Given the description of an element on the screen output the (x, y) to click on. 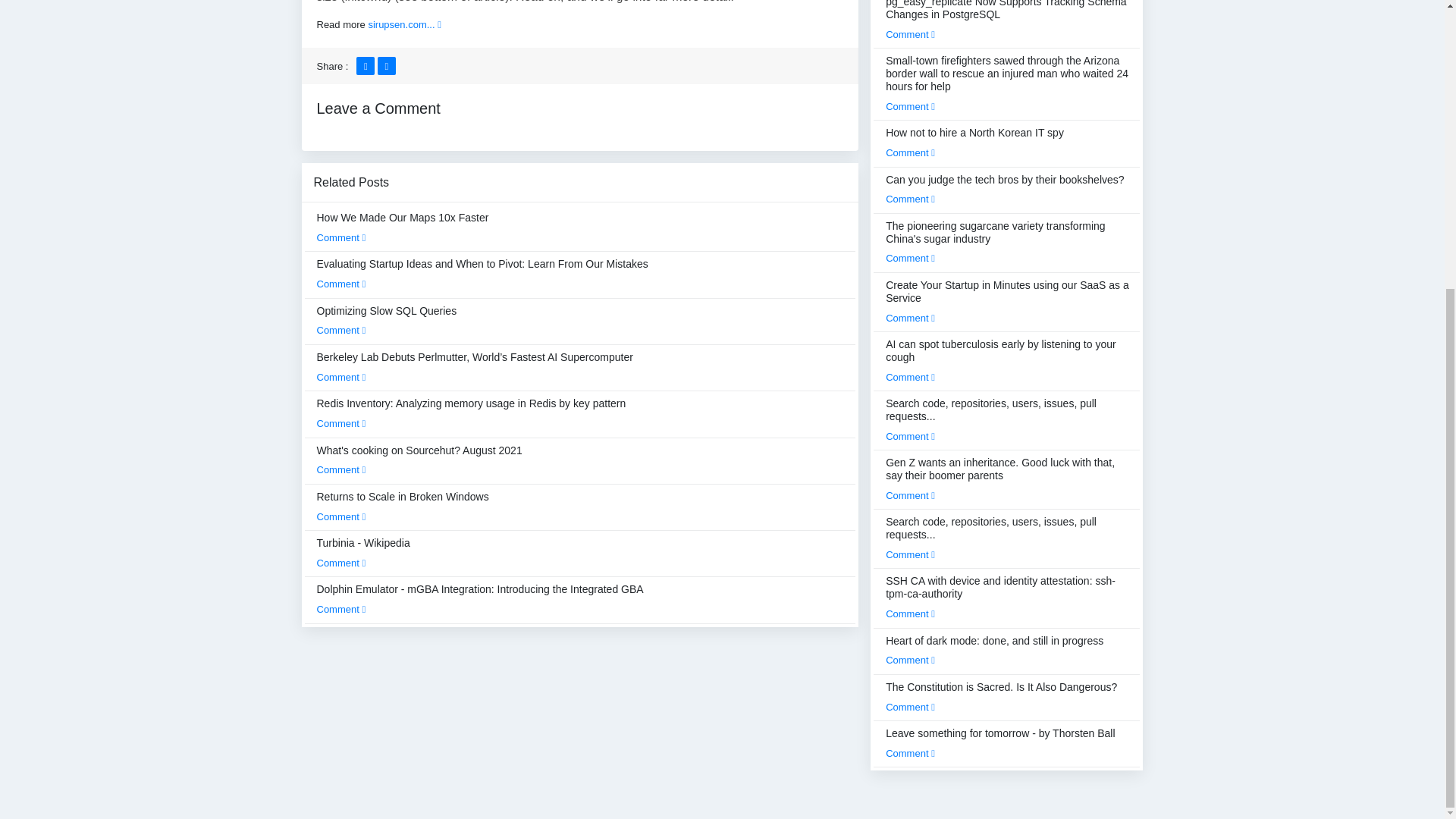
Optimizing Slow SQL Queries (387, 320)
Comment (341, 283)
Comment (341, 377)
sirupsen.com... (404, 24)
Comment (341, 562)
How We Made Our Maps 10x Faster (403, 227)
Comment (341, 516)
Comment (341, 609)
